Given the description of an element on the screen output the (x, y) to click on. 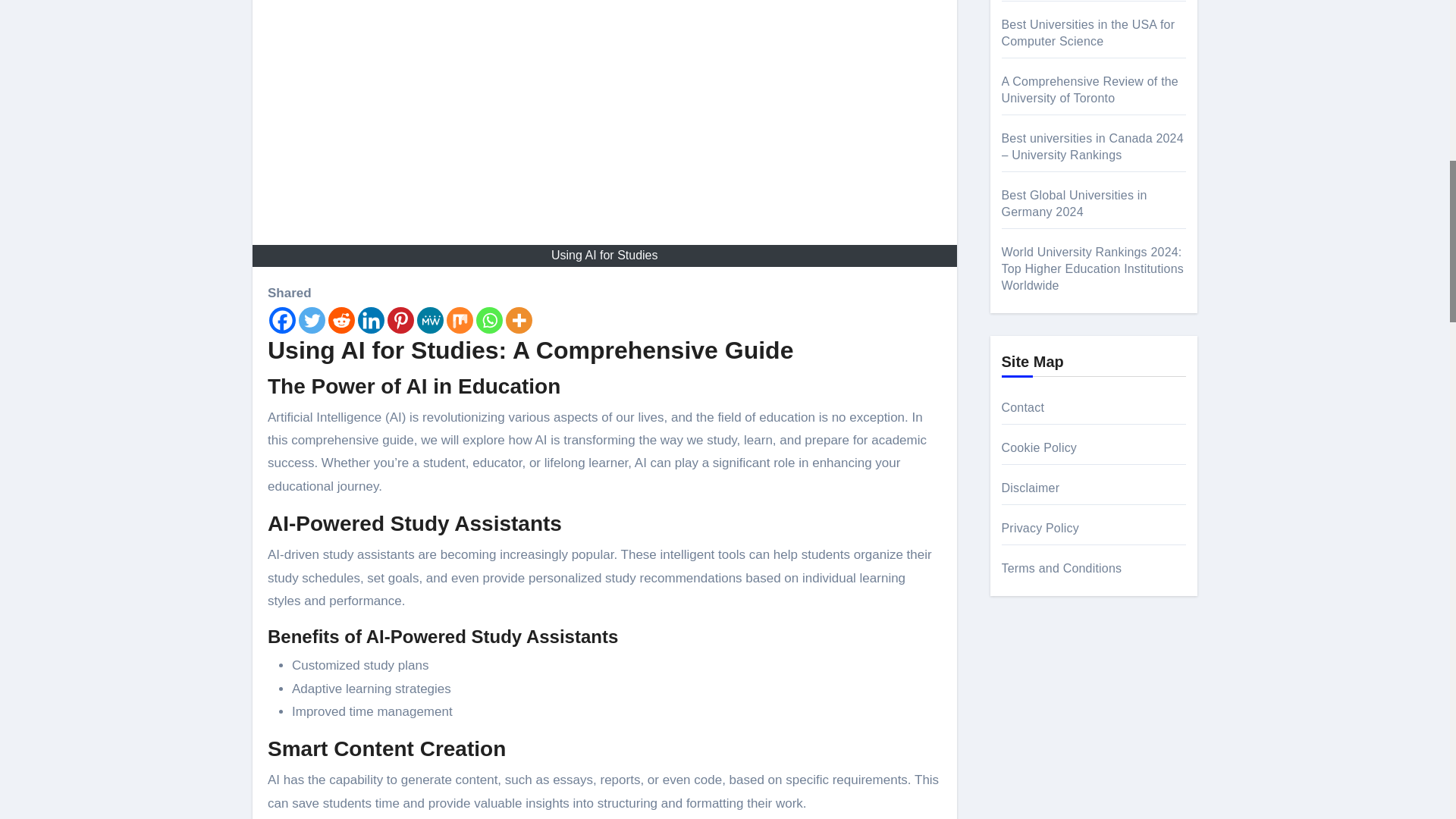
Linkedin (371, 320)
Facebook (282, 320)
Twitter (311, 320)
Reddit (342, 320)
